Given the description of an element on the screen output the (x, y) to click on. 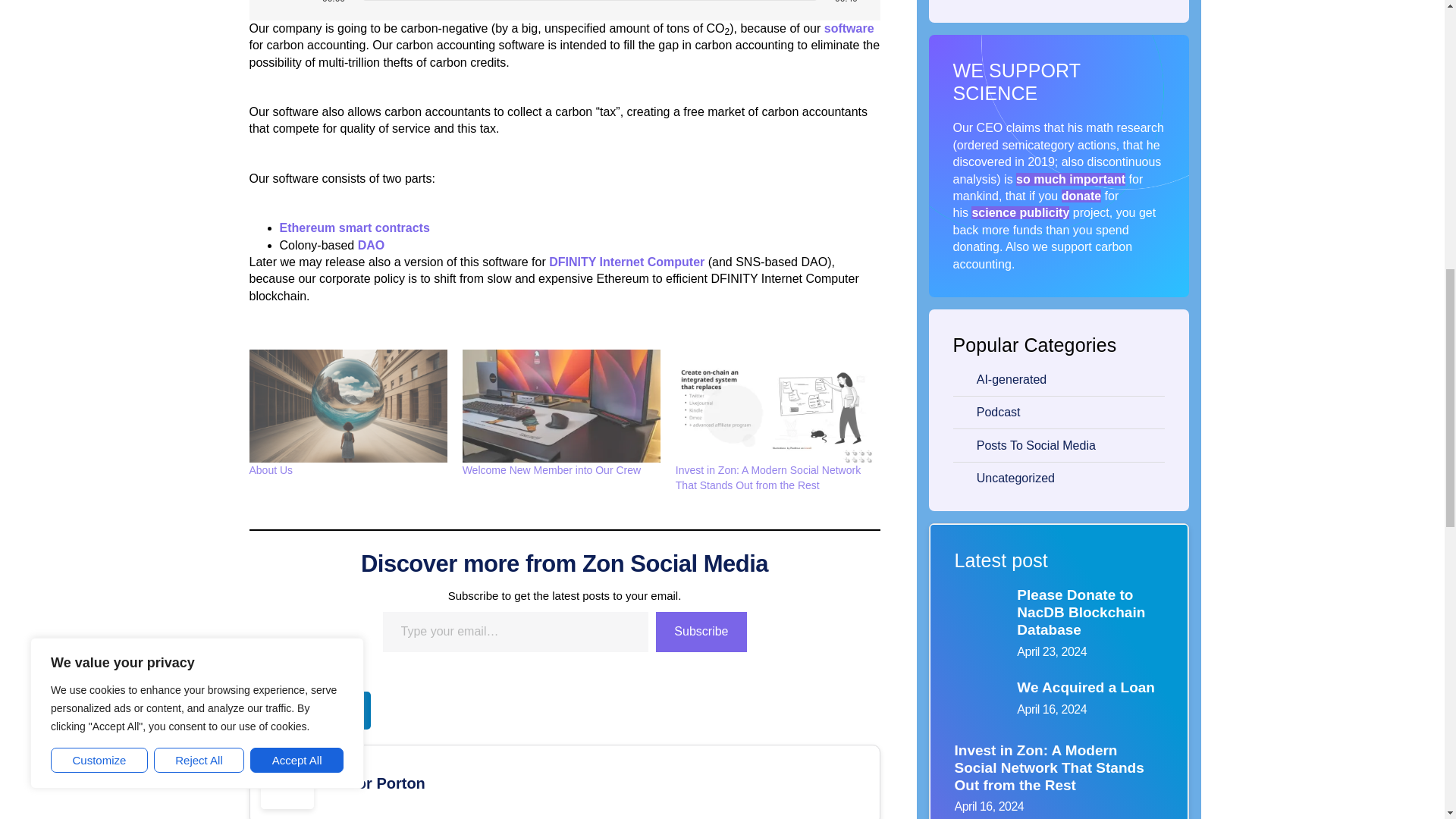
About Us (347, 405)
About Us (270, 469)
Welcome New Member into Our Crew (562, 405)
Welcome New Member into Our Crew (551, 469)
Trinity Audio Player (564, 4)
Please fill in this field. (514, 631)
